Given the description of an element on the screen output the (x, y) to click on. 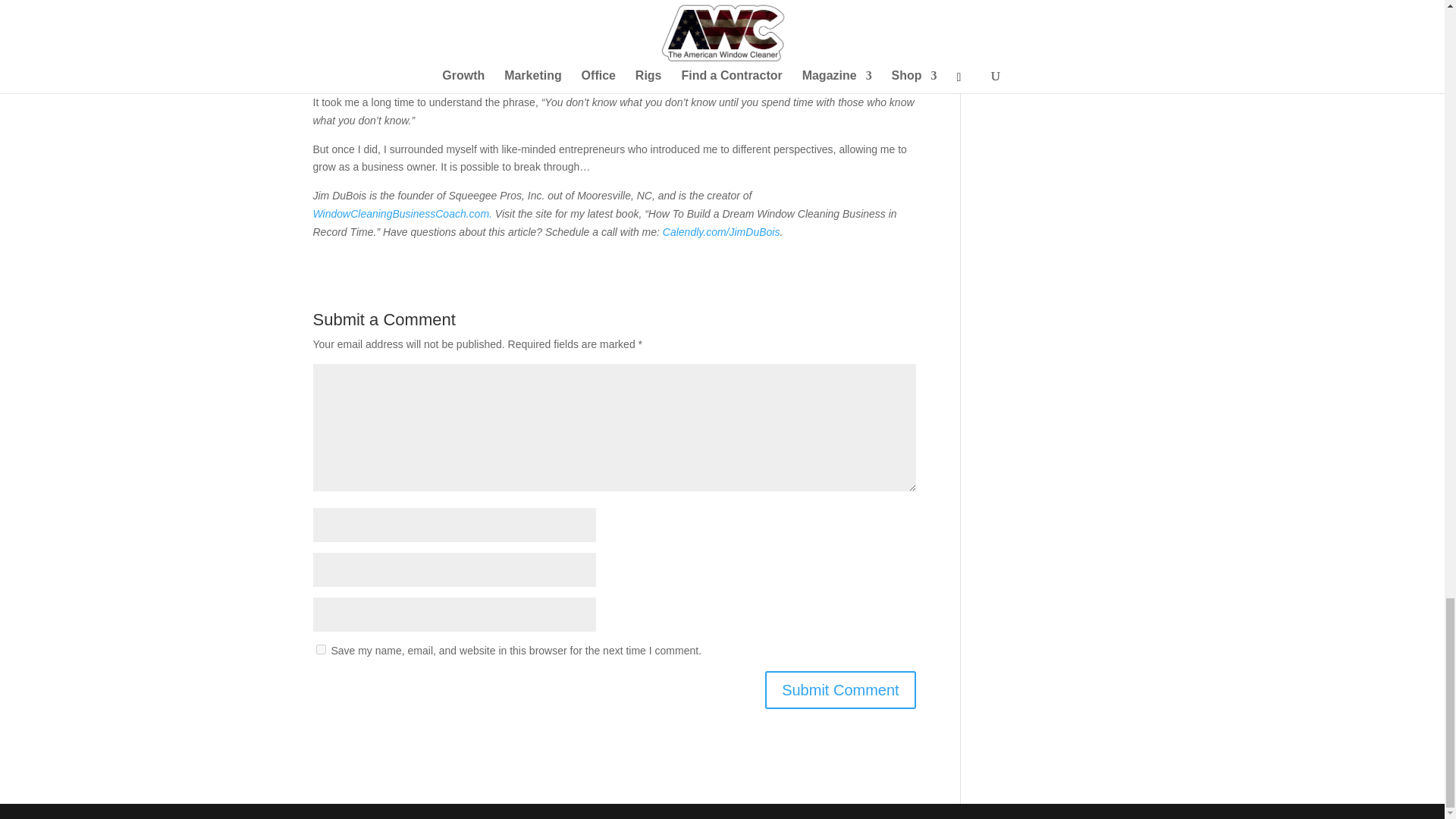
Submit Comment (840, 689)
yes (319, 649)
